Given the description of an element on the screen output the (x, y) to click on. 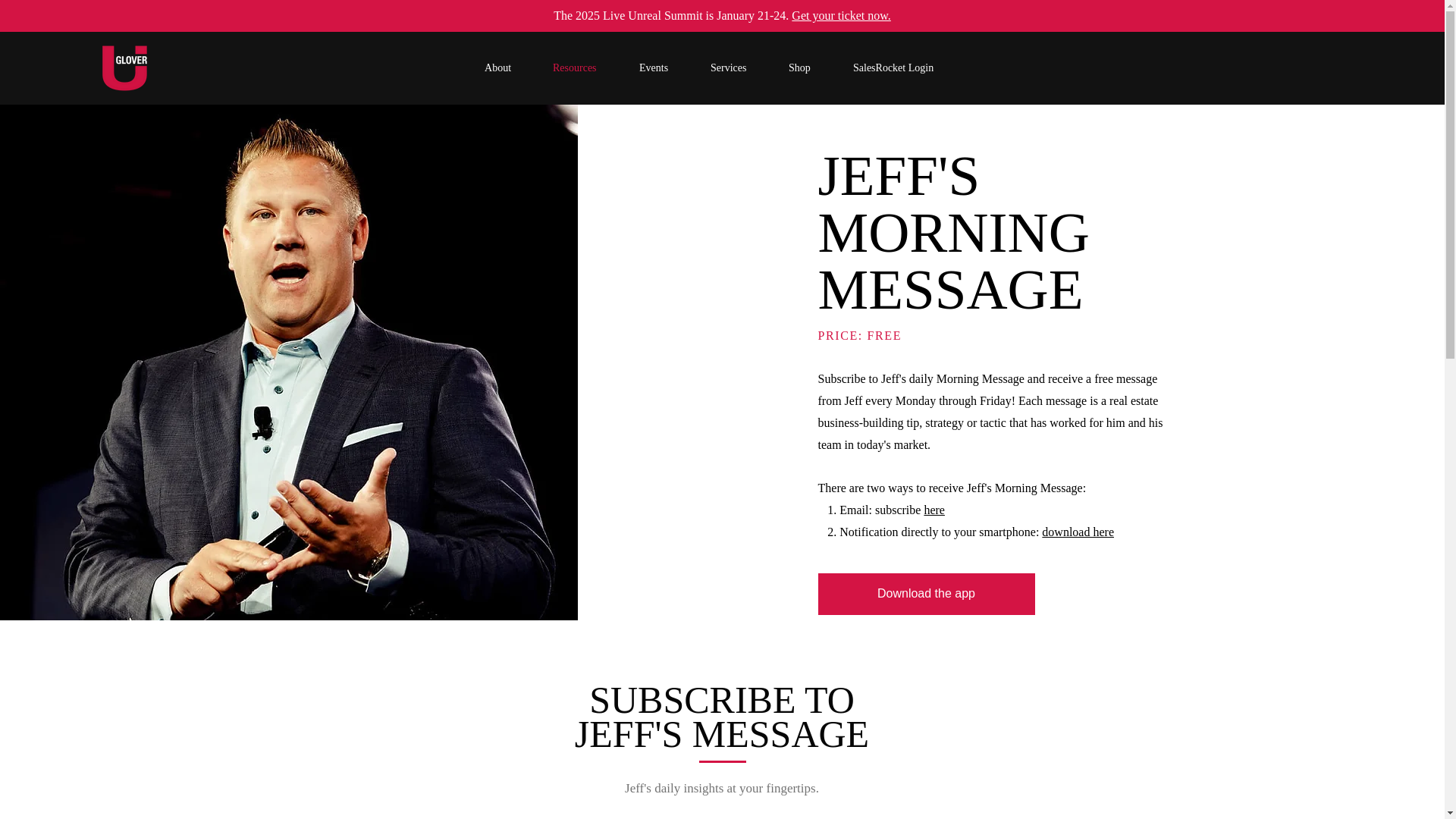
About (510, 67)
Resources (587, 67)
Get your ticket now. (840, 15)
